Given the description of an element on the screen output the (x, y) to click on. 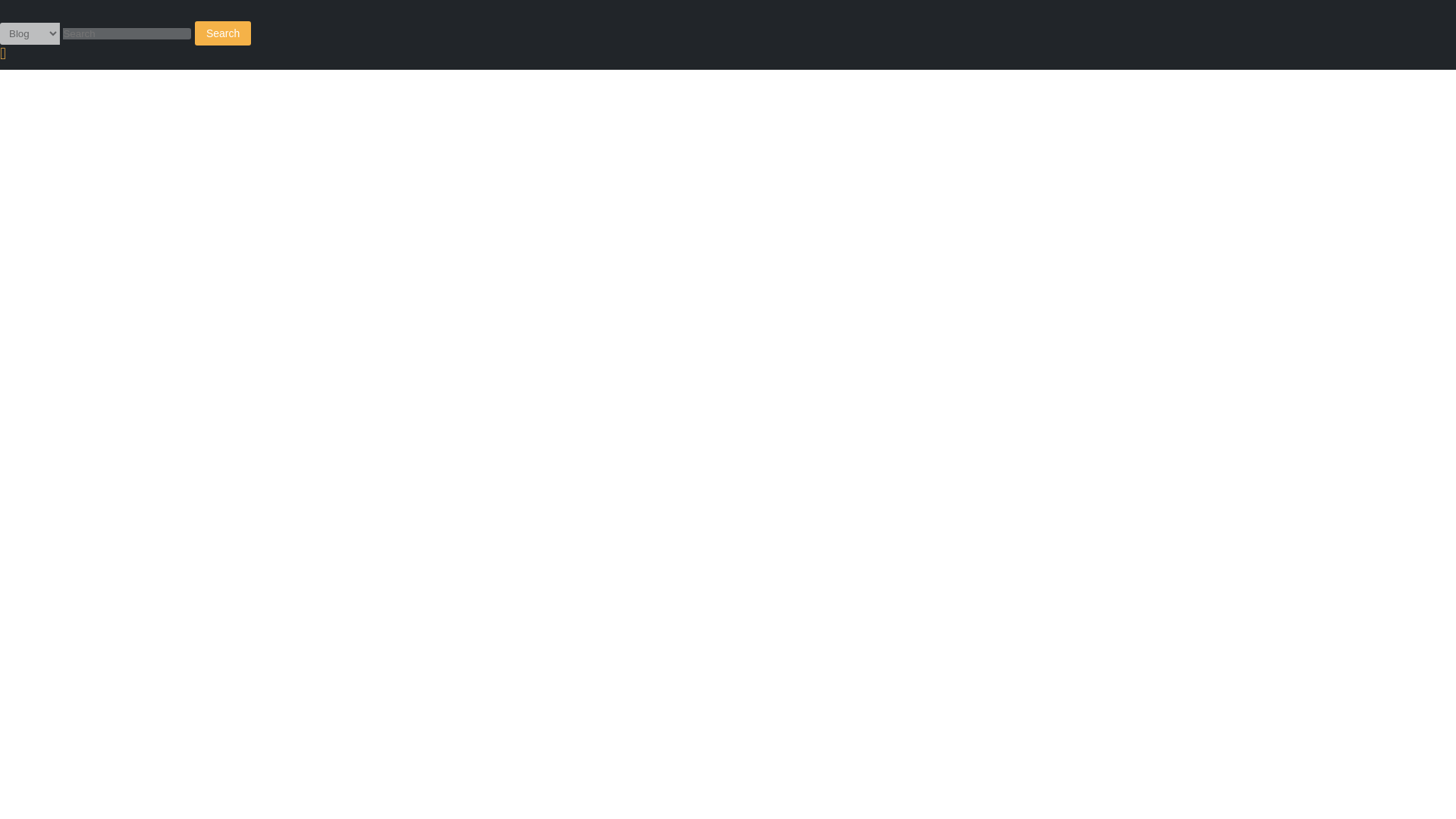
Search (222, 33)
